Given the description of an element on the screen output the (x, y) to click on. 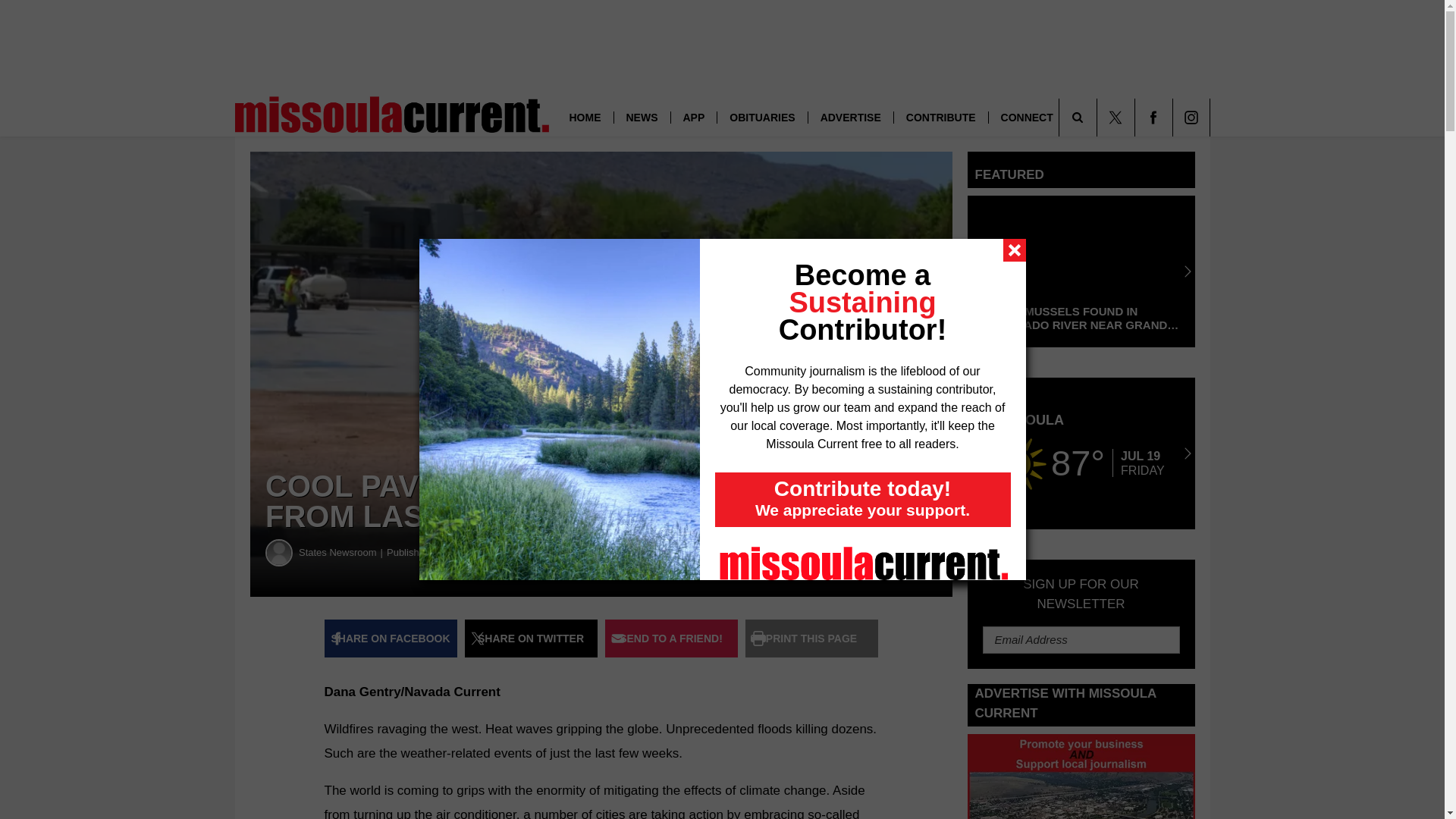
States Newsroom (278, 552)
CONNECT (1026, 117)
SEARCH (1099, 117)
Share on Twitter (530, 638)
Send to a friend! (671, 638)
Visit us on Twitter (1115, 117)
NEWS (640, 117)
APP (693, 117)
Visit us on Facebook (1153, 117)
HOME (584, 117)
Print this page (810, 638)
SEARCH (1099, 117)
SEARCH (1099, 117)
Email Address (1080, 639)
CONTRIBUTE (940, 117)
